Given the description of an element on the screen output the (x, y) to click on. 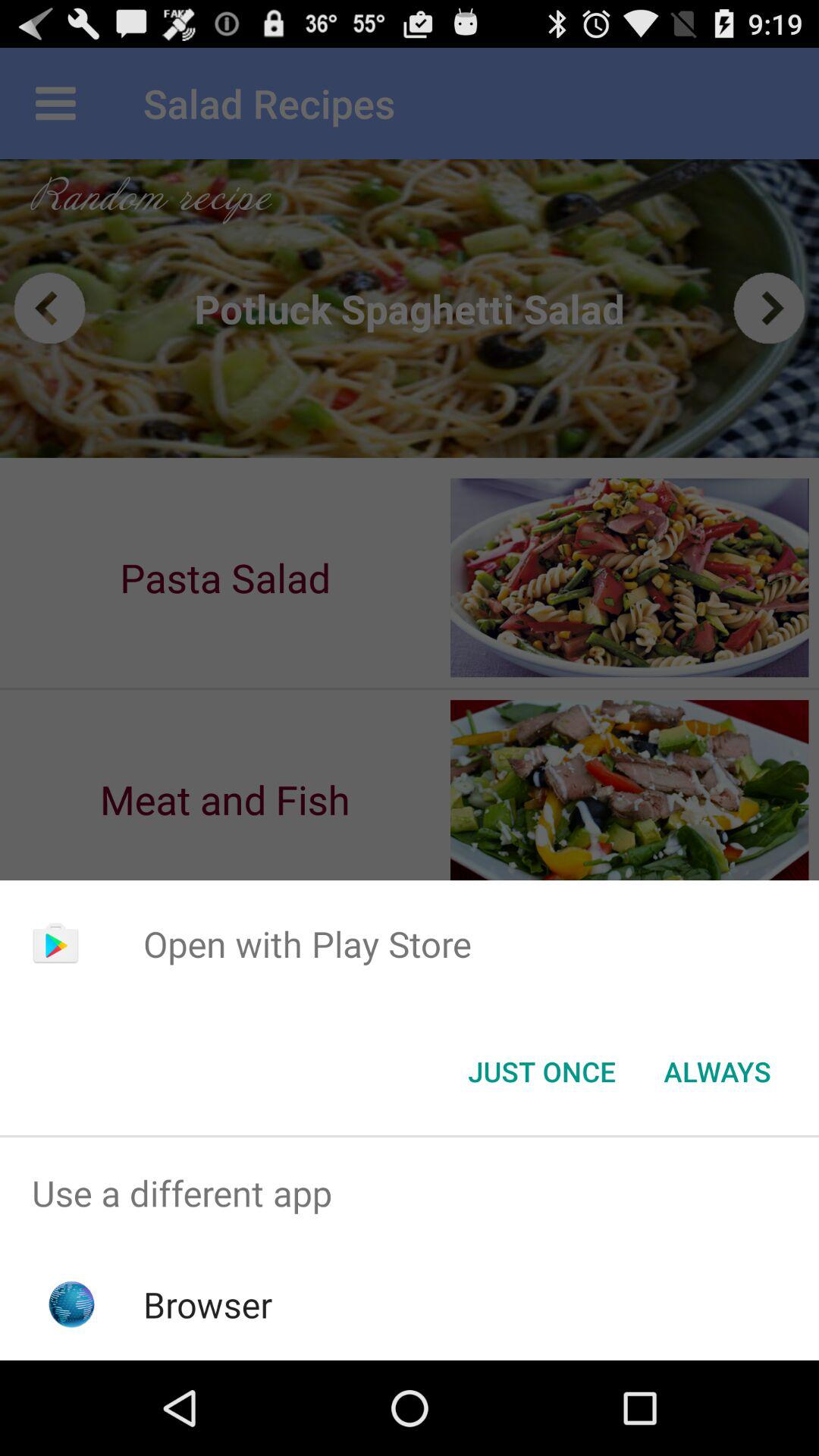
click the always item (717, 1071)
